Given the description of an element on the screen output the (x, y) to click on. 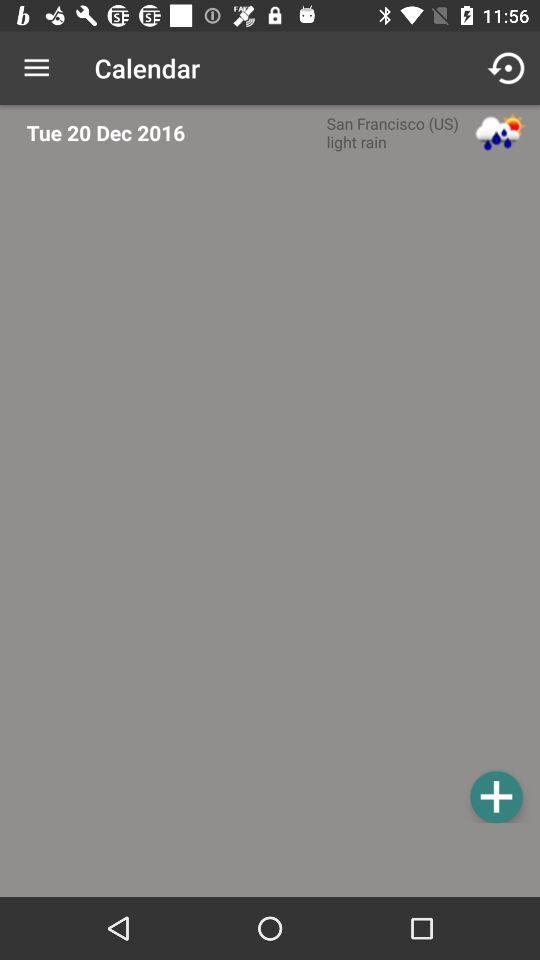
choose the icon next to the calendar icon (508, 67)
